Given the description of an element on the screen output the (x, y) to click on. 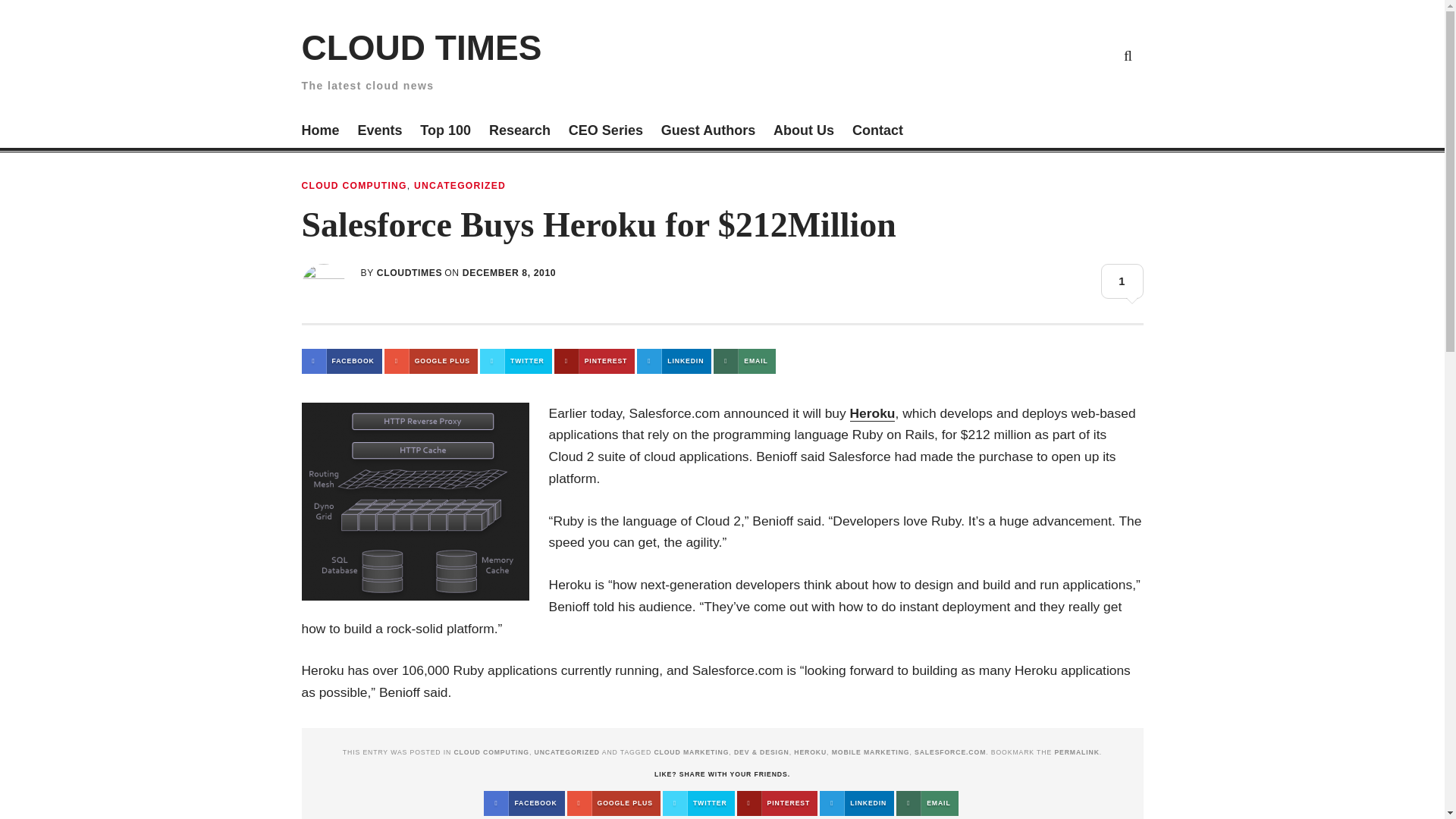
Home (320, 132)
Google (986, 54)
Heroku (872, 413)
LINKEDIN (674, 360)
UNCATEGORIZED (459, 185)
DECEMBER 8, 2010 (509, 272)
TWITTER (515, 360)
Top 100 (445, 132)
EMAIL (743, 360)
Research (519, 132)
Cloud Providers (1021, 54)
CLOUD COMPUTING (490, 751)
Heroku Salesforce (415, 501)
CLOUD COMPUTING (354, 185)
